Given the description of an element on the screen output the (x, y) to click on. 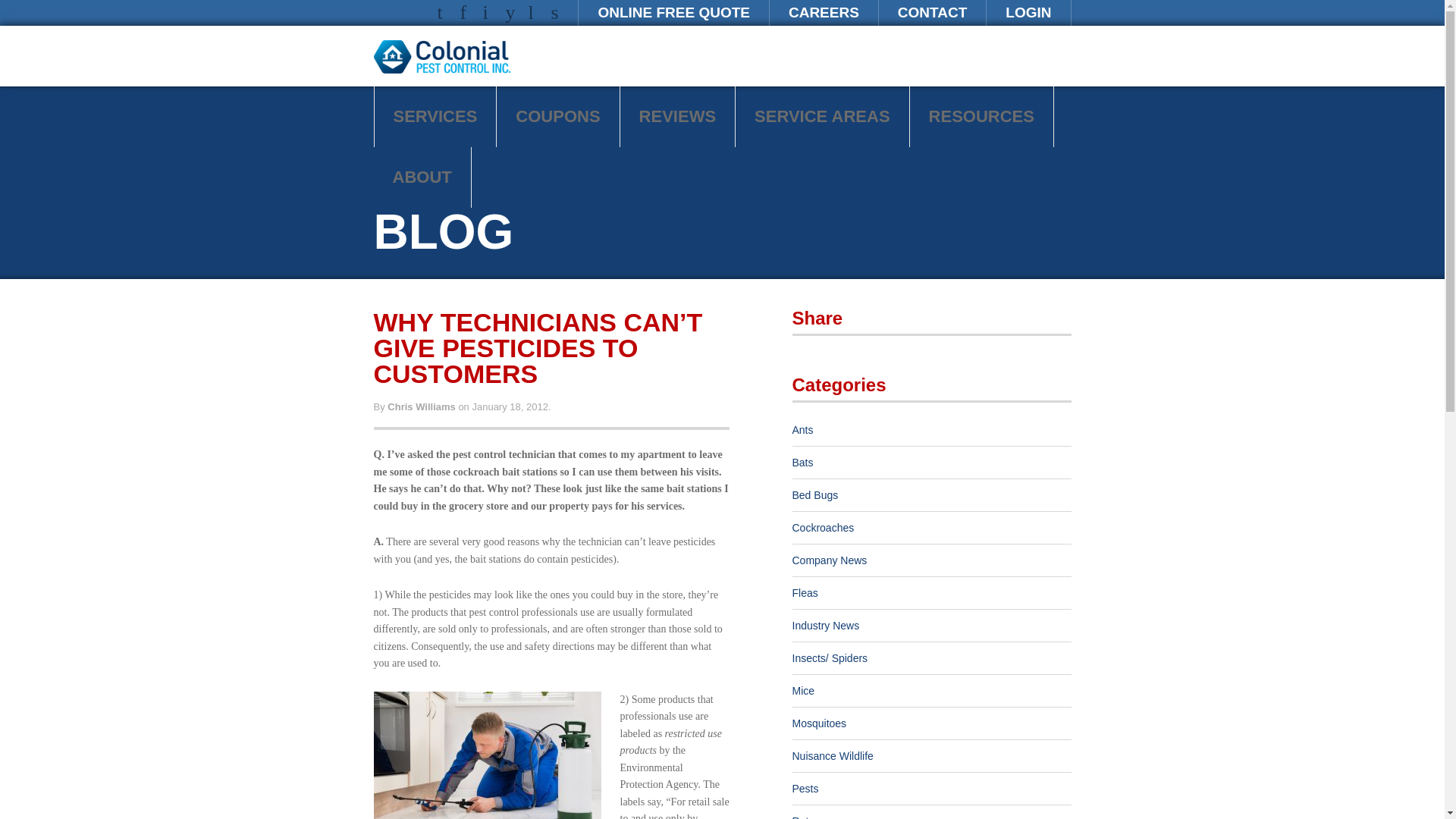
SERVICES (435, 116)
COUPONS (557, 116)
LOGIN (1028, 12)
ONLINE FREE QUOTE (673, 12)
CONTACT (932, 12)
REVIEWS (677, 116)
CAREERS (823, 12)
RESOURCES (981, 116)
SERVICE AREAS (821, 116)
